Given the description of an element on the screen output the (x, y) to click on. 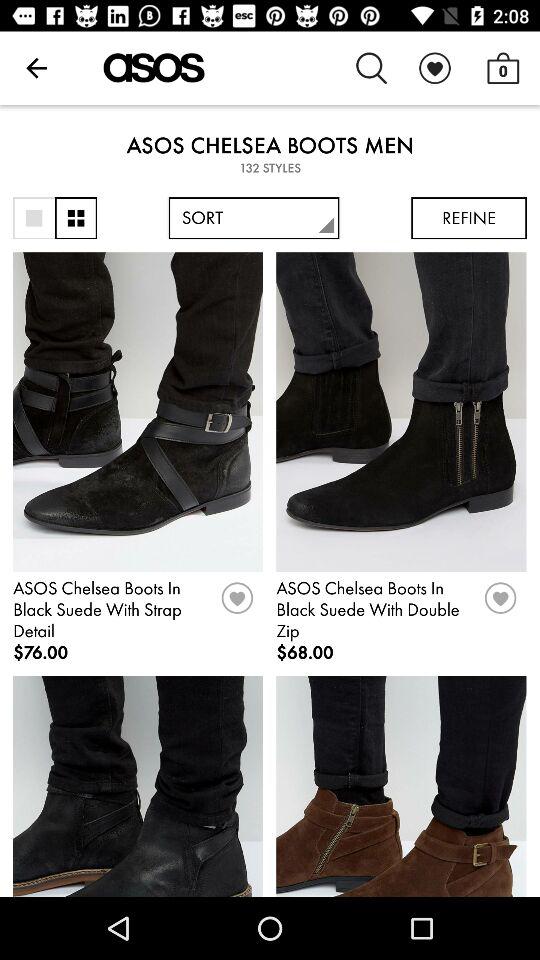
favorite button (237, 605)
